Given the description of an element on the screen output the (x, y) to click on. 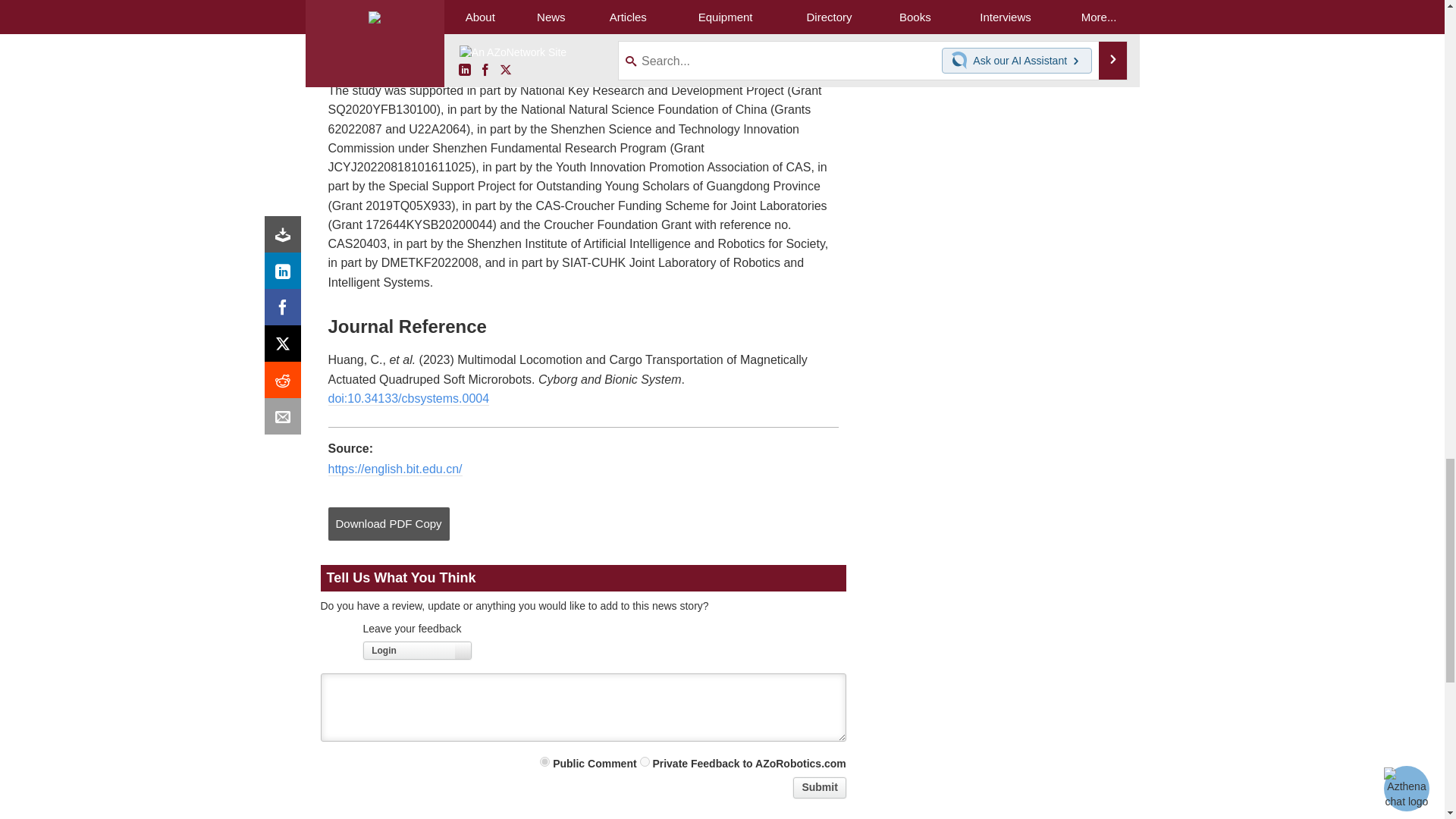
on (644, 761)
on (545, 761)
